Given the description of an element on the screen output the (x, y) to click on. 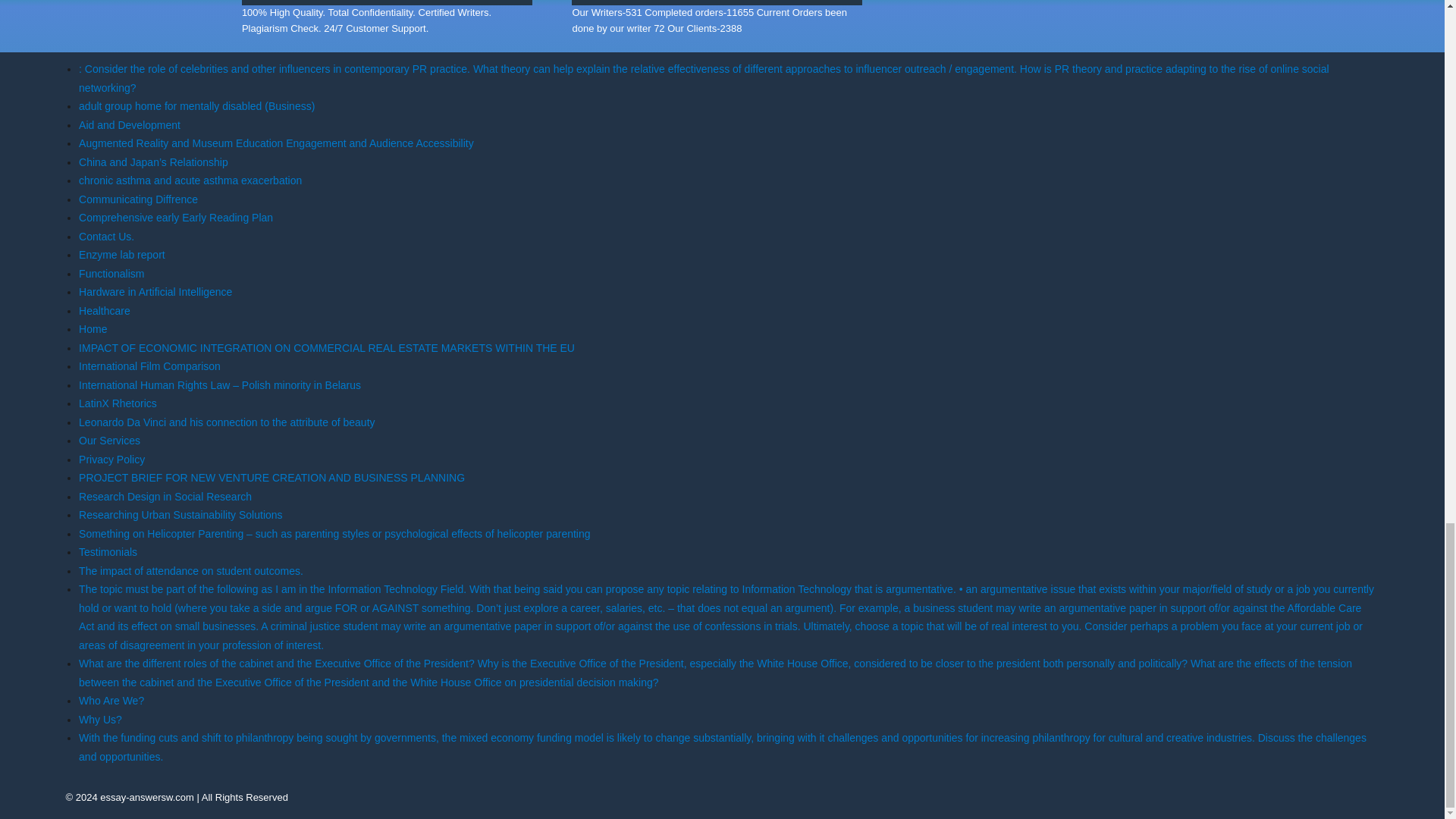
Communicating Diffrence (138, 199)
Contact Us. (105, 236)
Testimonials (107, 551)
Researching Urban Sustainability Solutions (180, 514)
Privacy Policy (111, 459)
Enzyme lab report (121, 254)
chronic asthma and acute asthma exacerbation (189, 180)
Hardware in Artificial Intelligence (154, 291)
International Film Comparison (149, 366)
Research Design in Social Research (164, 496)
Home (92, 328)
LatinX Rhetorics (117, 403)
Comprehensive early Early Reading Plan (175, 217)
